Given the description of an element on the screen output the (x, y) to click on. 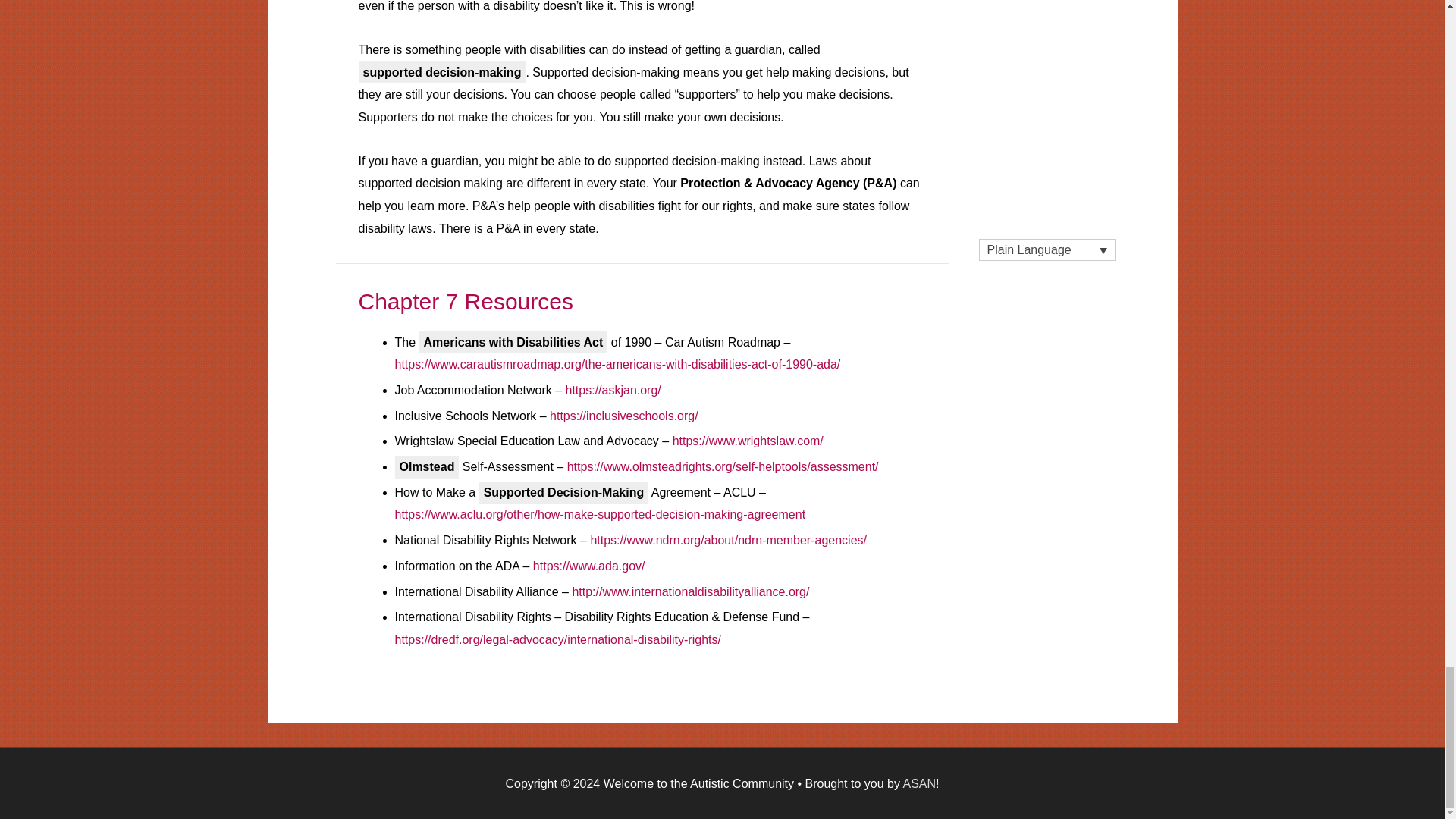
Chapter 7 Resources (465, 301)
Chapter 7 Resources (465, 301)
